Given the description of an element on the screen output the (x, y) to click on. 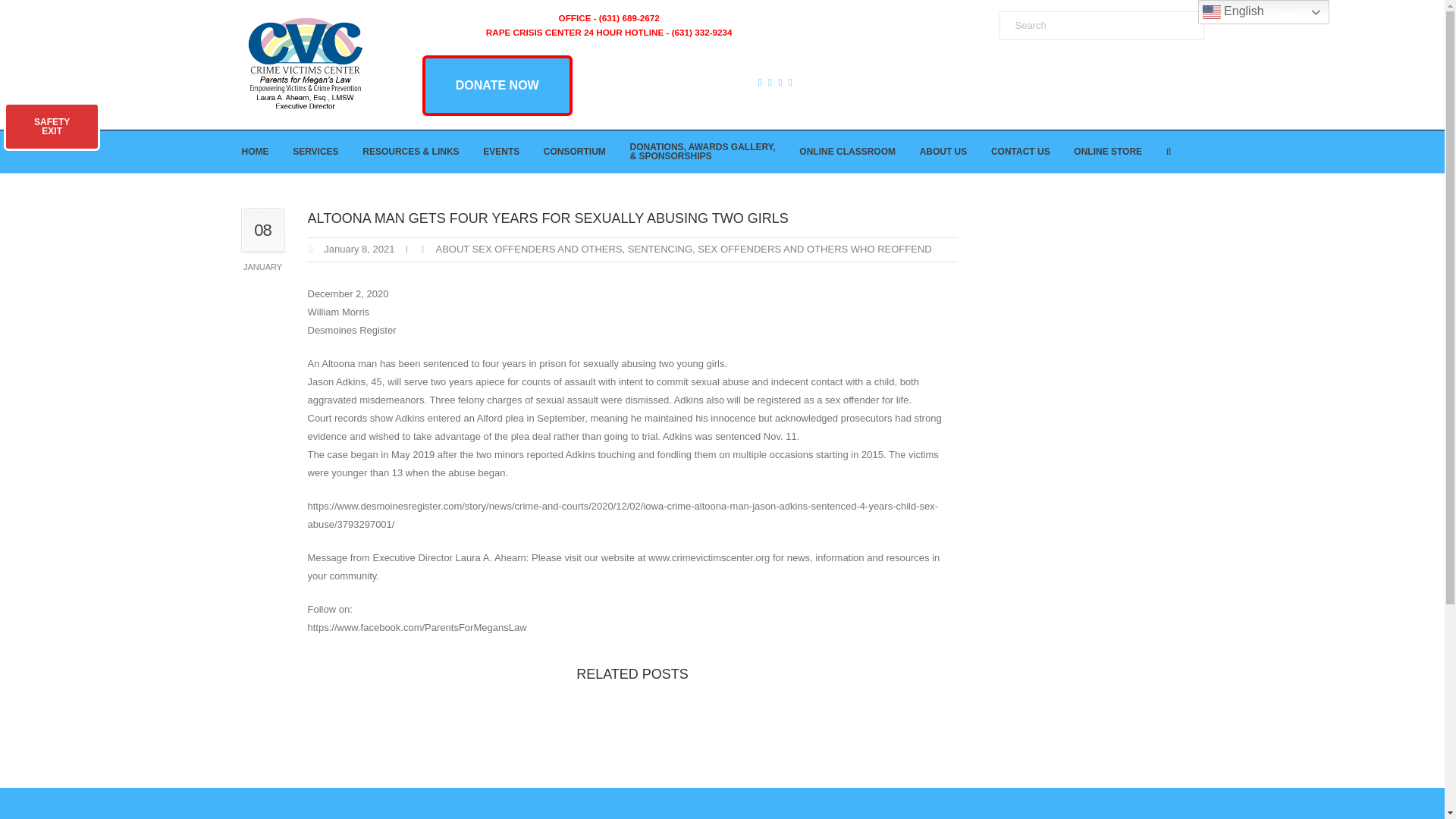
Search (1101, 25)
